Given the description of an element on the screen output the (x, y) to click on. 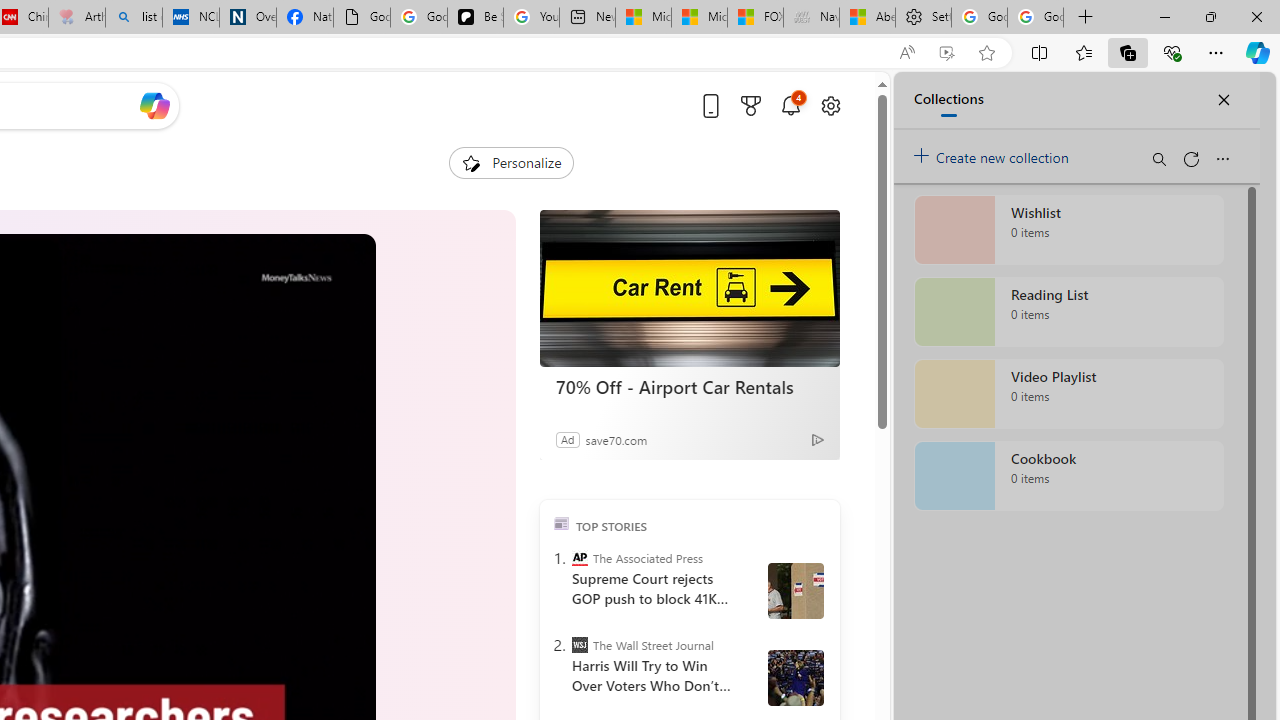
The Wall Street Journal (579, 645)
Google Analytics Opt-out Browser Add-on Download Page (362, 17)
save70.com (615, 439)
